Given the description of an element on the screen output the (x, y) to click on. 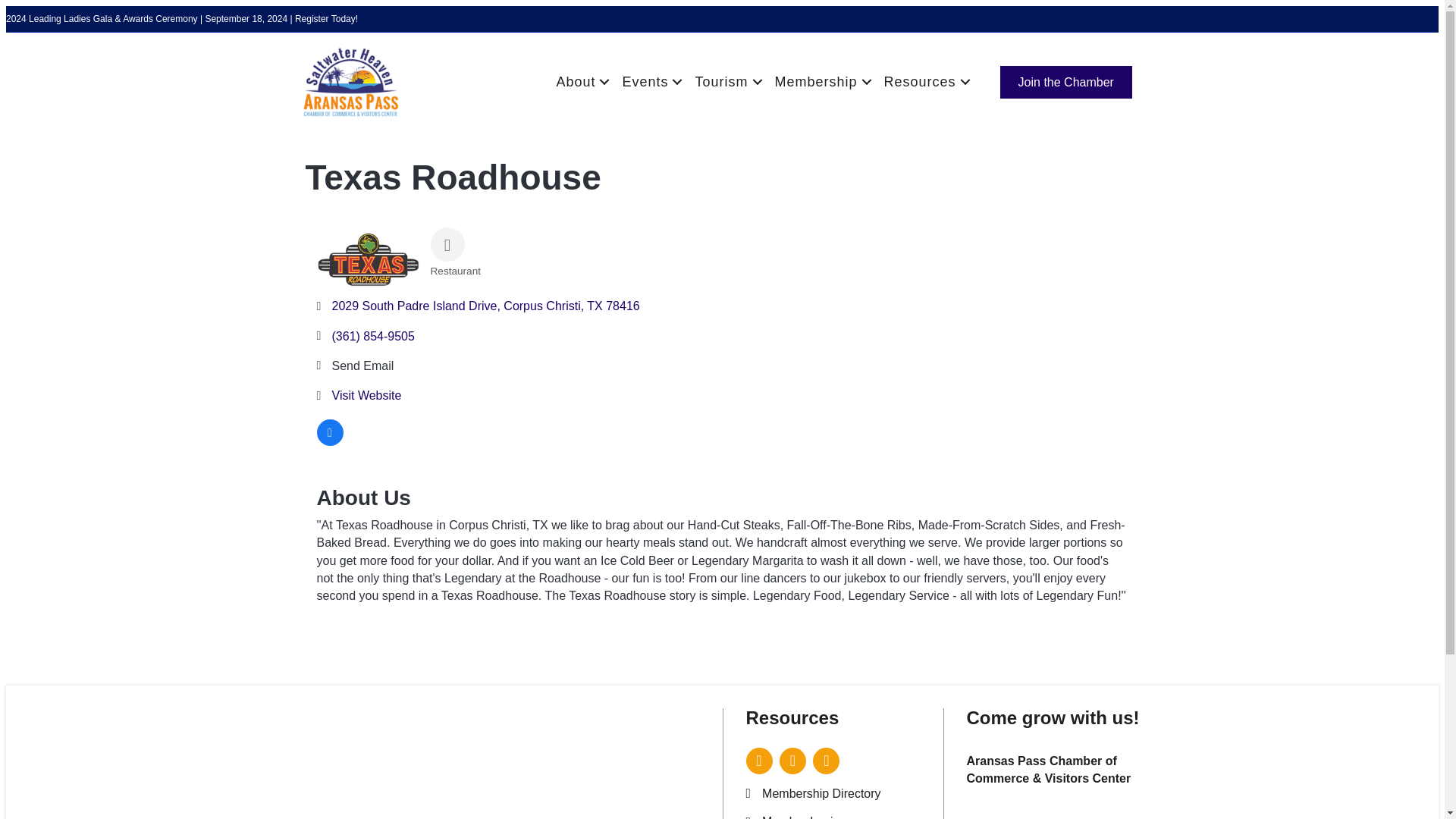
Resources (925, 81)
Send Email (362, 365)
Events (649, 81)
Tourism (726, 81)
APCOC Logo New-w200 (587, 769)
About (580, 81)
Membership (821, 81)
APCOC Logo transparent (350, 82)
2029 South Padre Island Drive Corpus Christi TX 78416 (485, 305)
Join the Chamber (1066, 82)
